Given the description of an element on the screen output the (x, y) to click on. 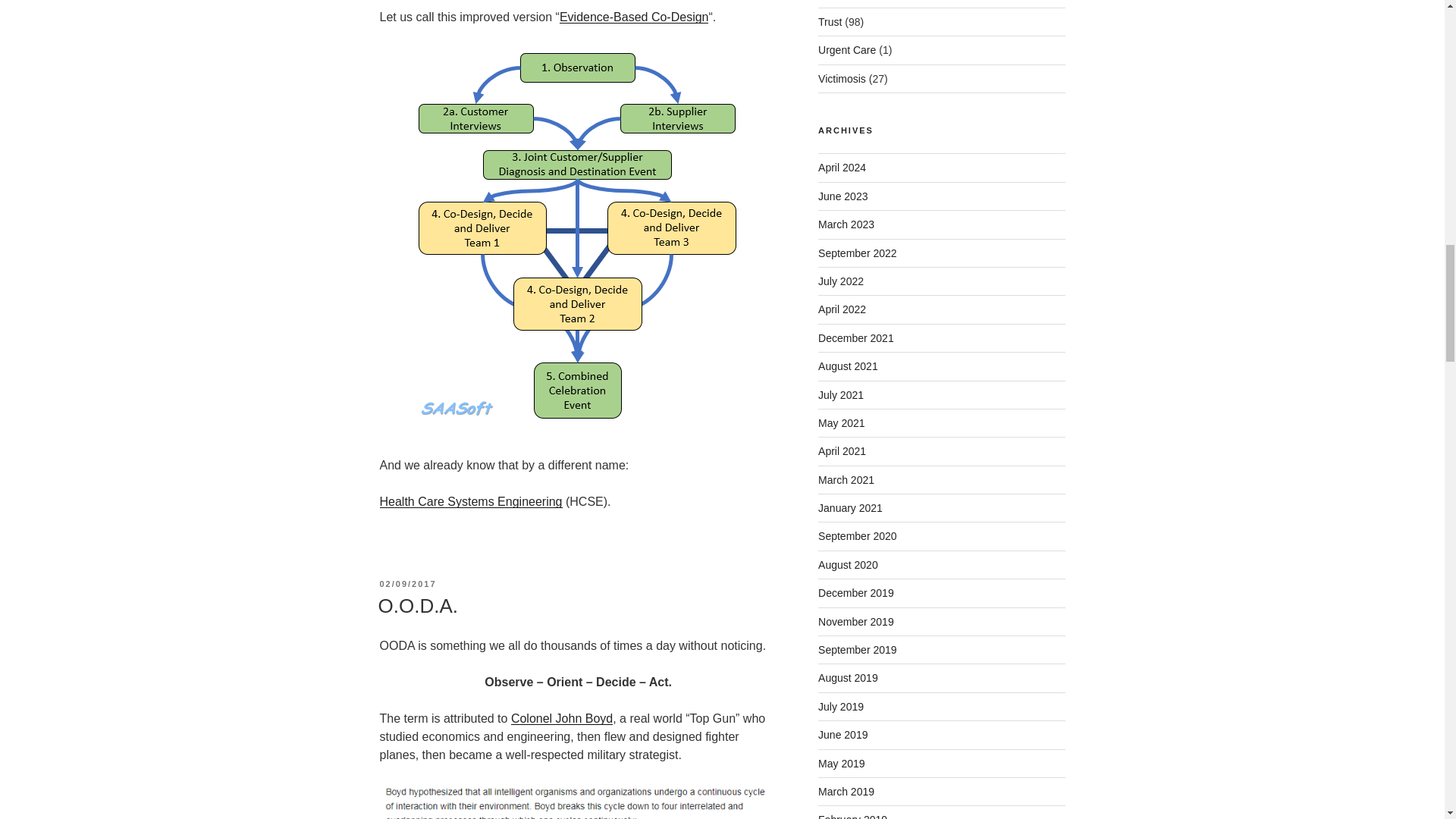
Evidence-Based Co-Design (634, 16)
Health Care Systems Engineering (470, 501)
O.O.D.A. (417, 605)
Colonel John Boyd (561, 717)
